Given the description of an element on the screen output the (x, y) to click on. 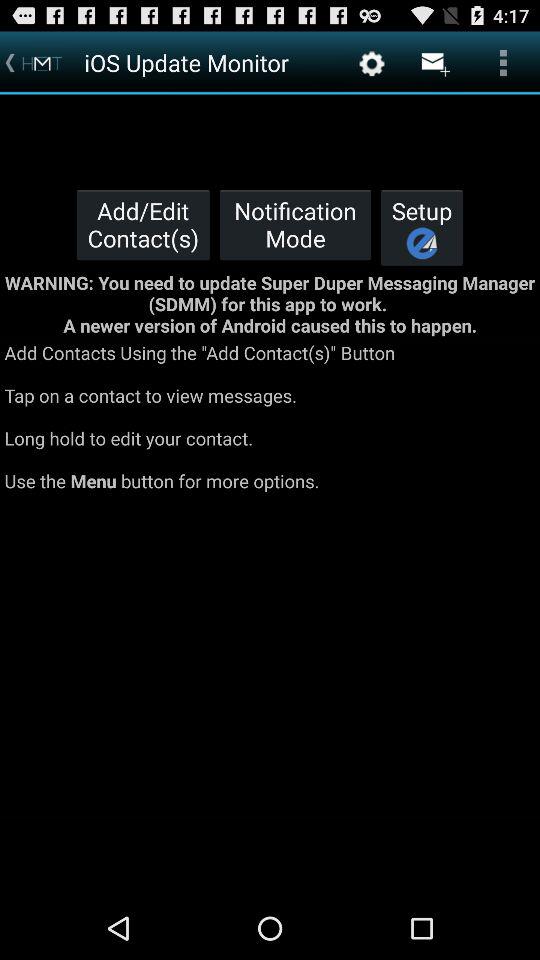
turn on setup button (422, 227)
